Given the description of an element on the screen output the (x, y) to click on. 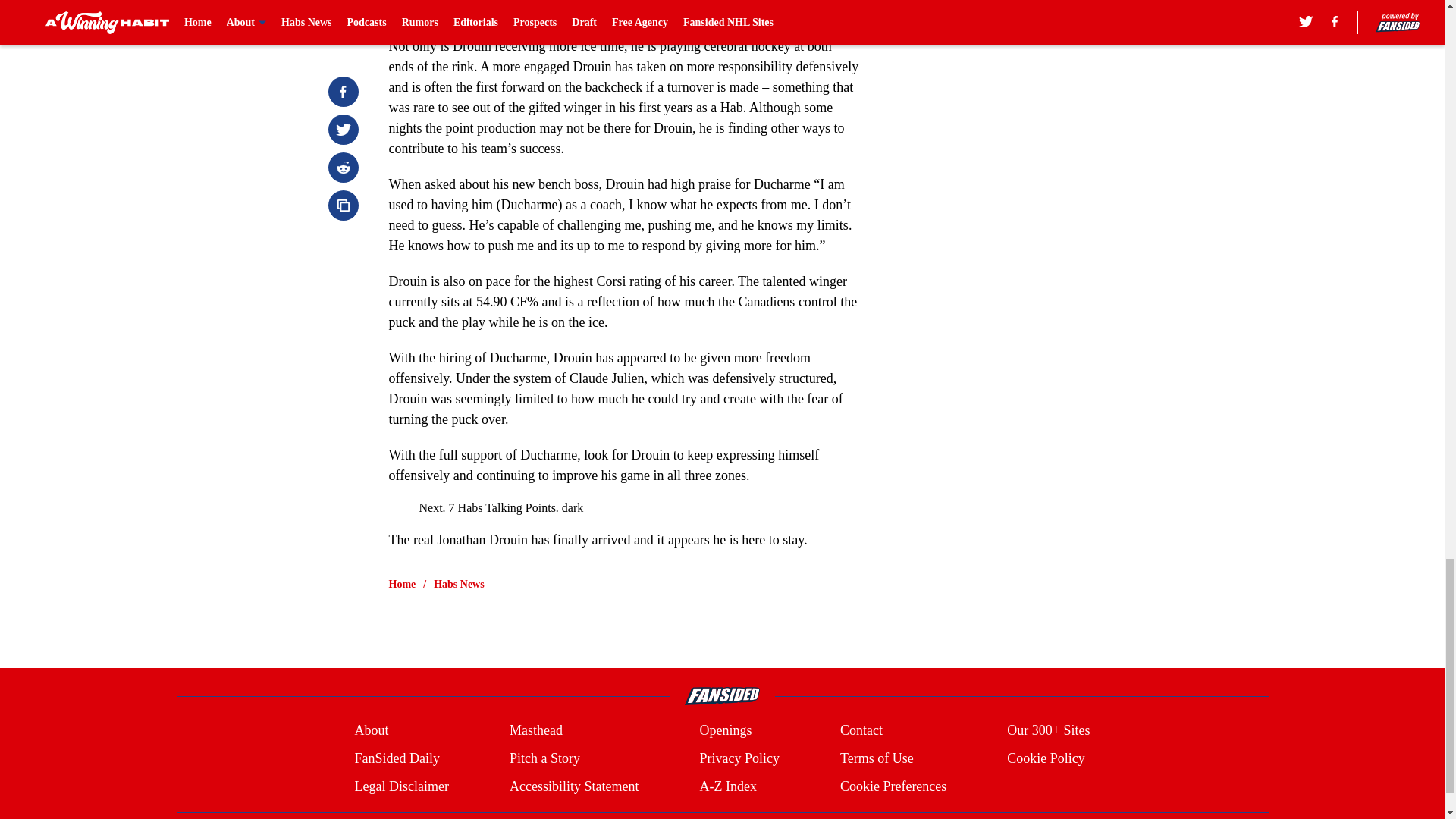
Legal Disclaimer (400, 786)
Pitch a Story (544, 758)
Cookie Preferences (893, 786)
Contact (861, 730)
Habs News (458, 584)
Home (401, 584)
About (370, 730)
Terms of Use (877, 758)
Openings (724, 730)
Masthead (535, 730)
Accessibility Statement (574, 786)
FanSided Daily (396, 758)
Cookie Policy (1045, 758)
Privacy Policy (738, 758)
A-Z Index (726, 786)
